Given the description of an element on the screen output the (x, y) to click on. 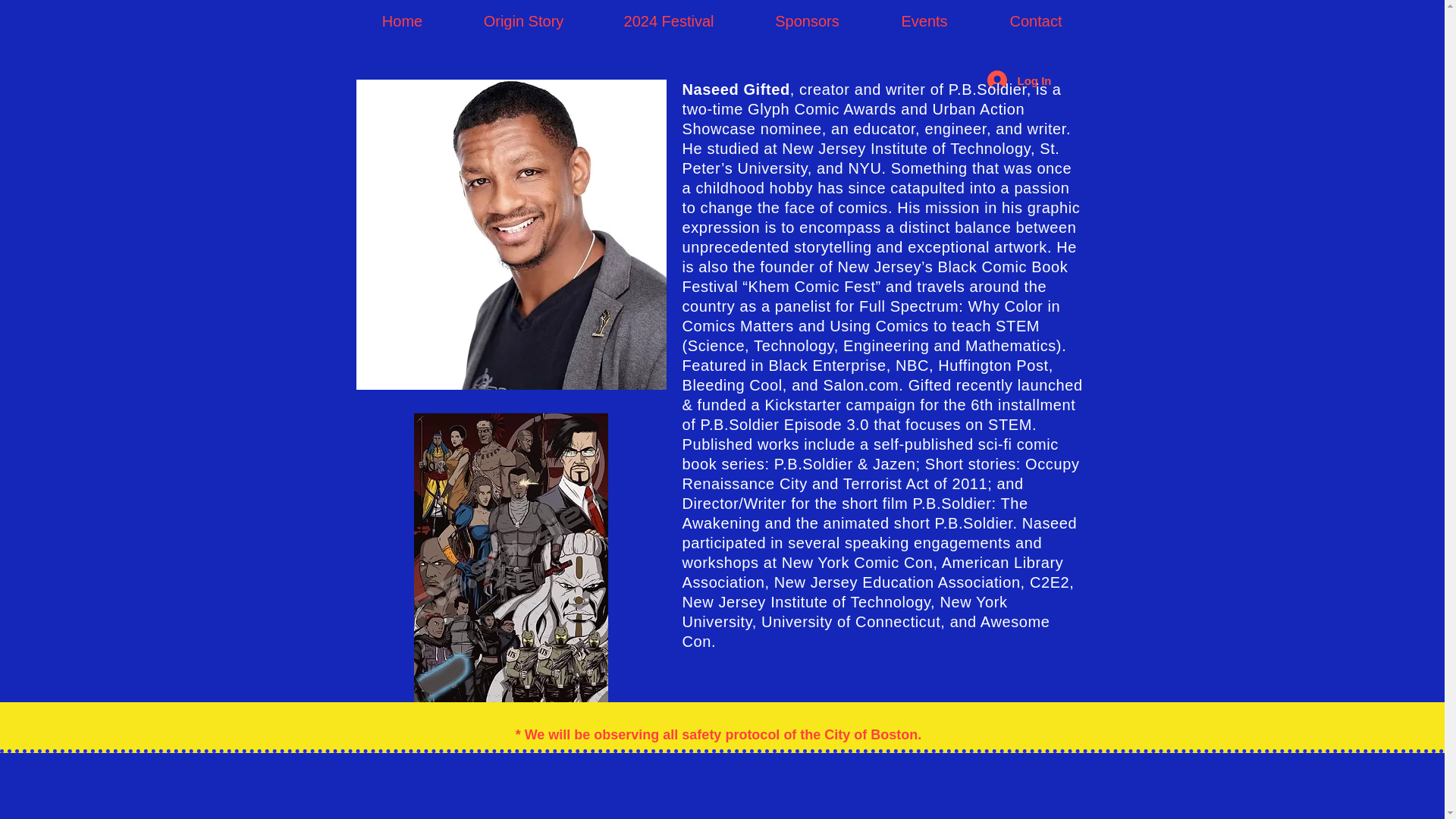
Home (401, 21)
Log In (1019, 80)
Sponsors (807, 21)
Events (924, 21)
2024 Festival (668, 21)
Origin Story (522, 21)
Contact (1035, 21)
